Given the description of an element on the screen output the (x, y) to click on. 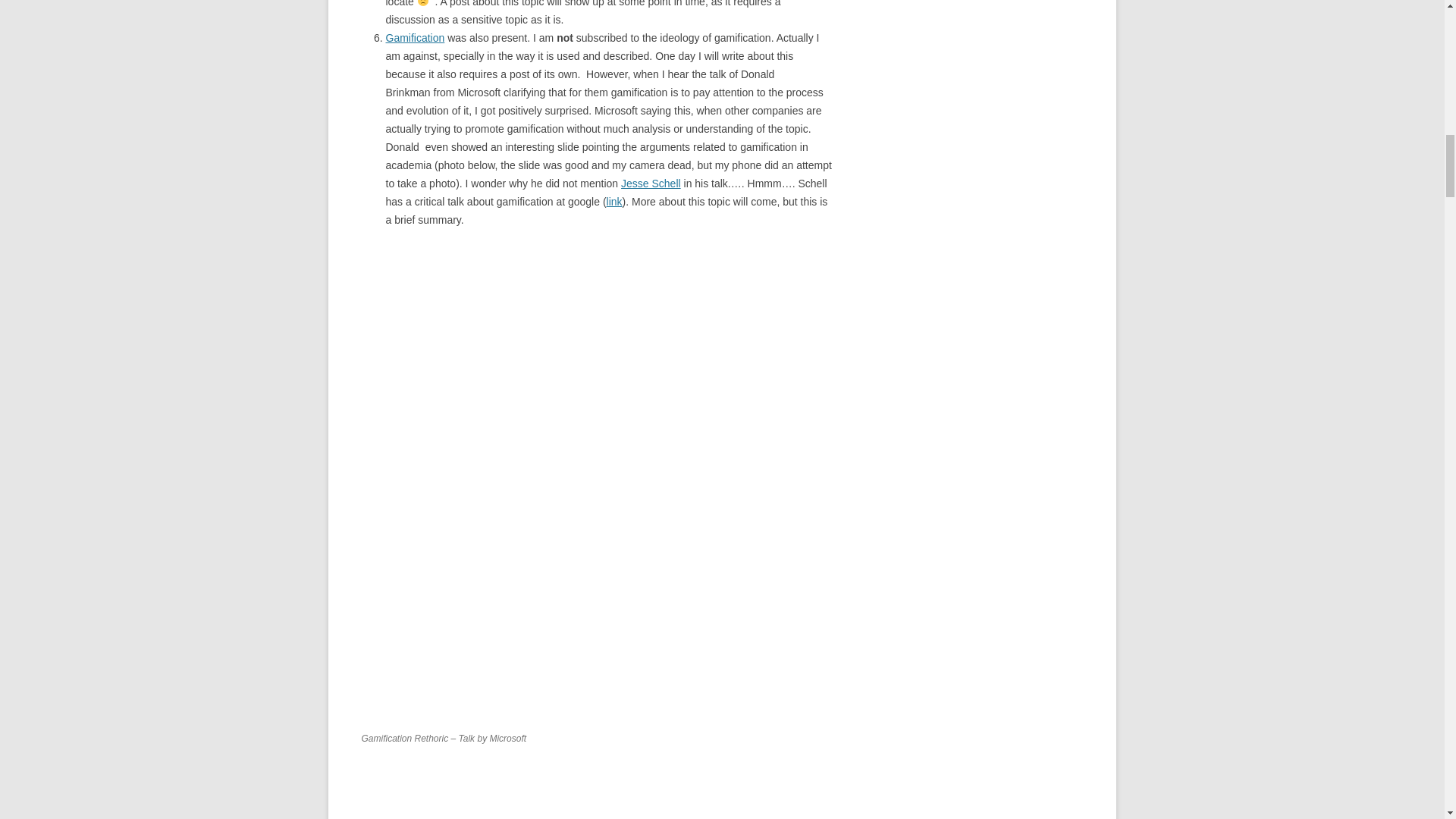
Gamification (414, 37)
Jesse Schell (651, 183)
link (615, 201)
